Given the description of an element on the screen output the (x, y) to click on. 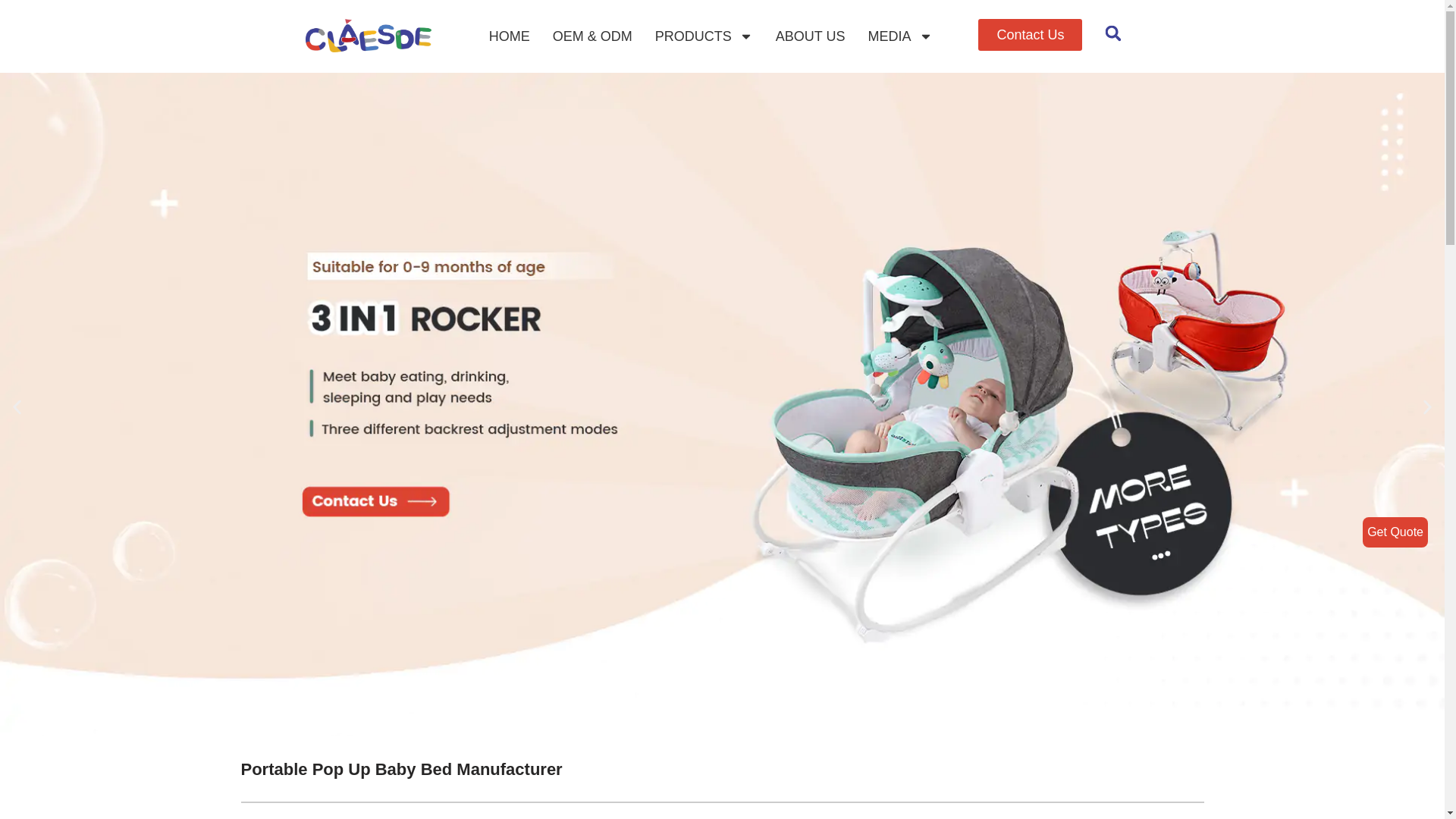
HOME (509, 36)
Skip to content (11, 31)
PRODUCTS (703, 36)
